Given the description of an element on the screen output the (x, y) to click on. 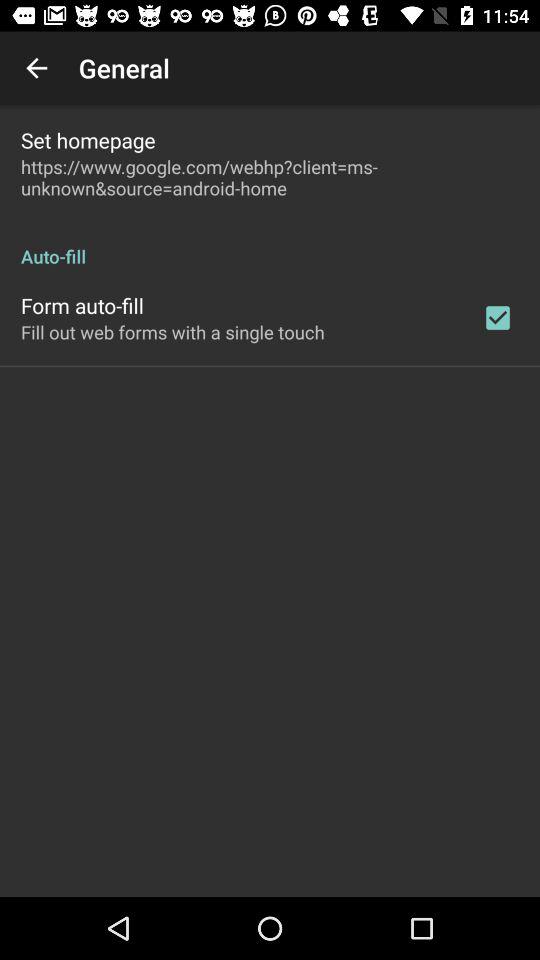
press app next to the fill out web icon (497, 317)
